Given the description of an element on the screen output the (x, y) to click on. 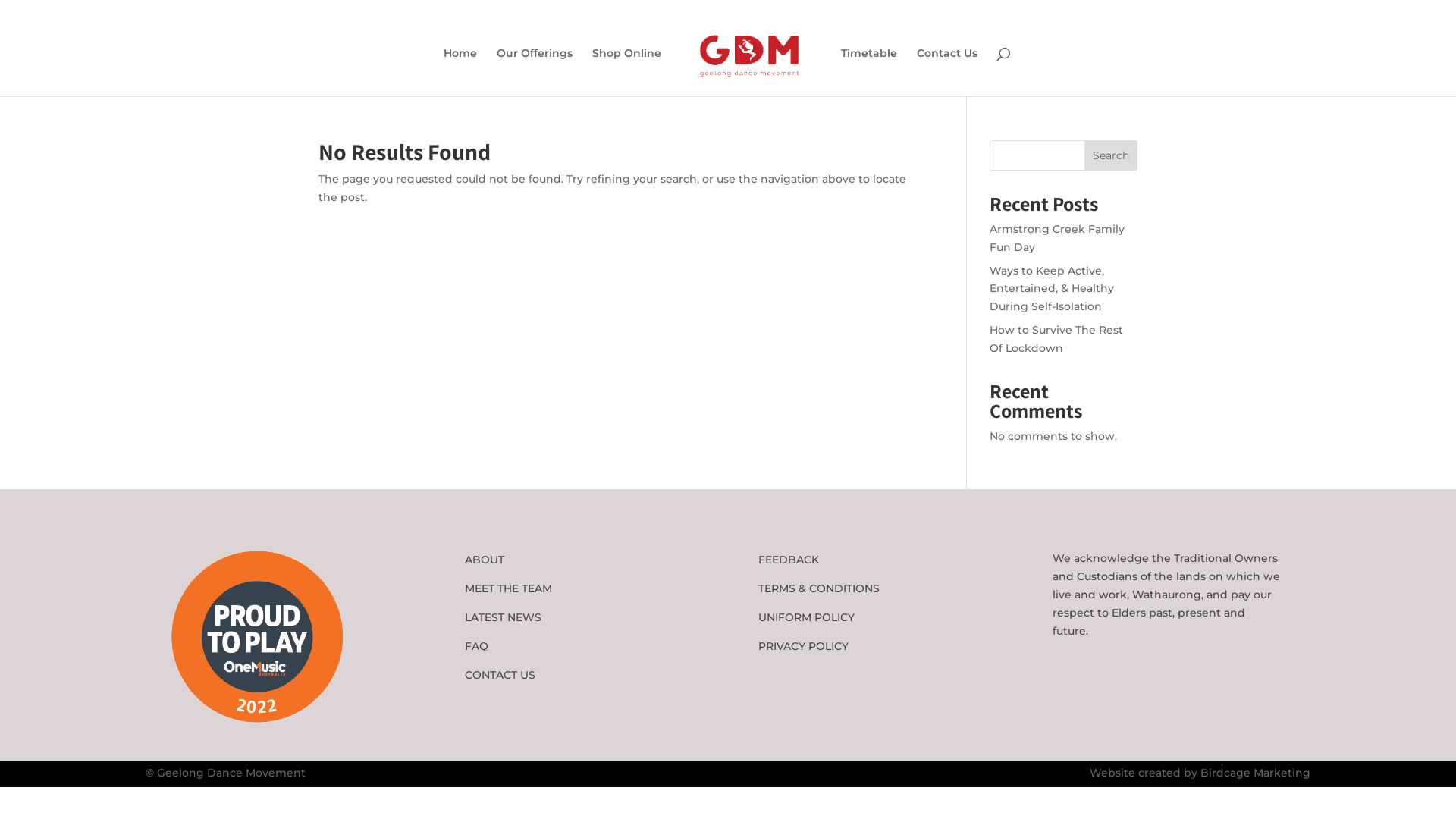
Armstrong Creek Family Fun Day Element type: text (1056, 238)
PRIVACY POLICY Element type: text (803, 645)
FEEDBACK Element type: text (788, 559)
Birdcage Marketing Element type: text (1255, 772)
Timetable Element type: text (868, 71)
MEET THE TEAM Element type: text (508, 588)
LATEST NEWS Element type: text (502, 617)
Search Element type: text (1110, 155)
FAQ Element type: text (476, 645)
Home Element type: text (459, 71)
How to Survive The Rest Of Lockdown Element type: text (1056, 338)
Proud to Play digital logo 2022 PNG Element type: hover (256, 636)
TERMS & CONDITIONS Element type: text (818, 588)
ABOUT Element type: text (484, 559)
Our Offerings Element type: text (534, 71)
Contact Us Element type: text (946, 71)
UNIFORM POLICY Element type: text (806, 617)
CONTACT US Element type: text (499, 674)
Shop Online Element type: text (626, 71)
